Given the description of an element on the screen output the (x, y) to click on. 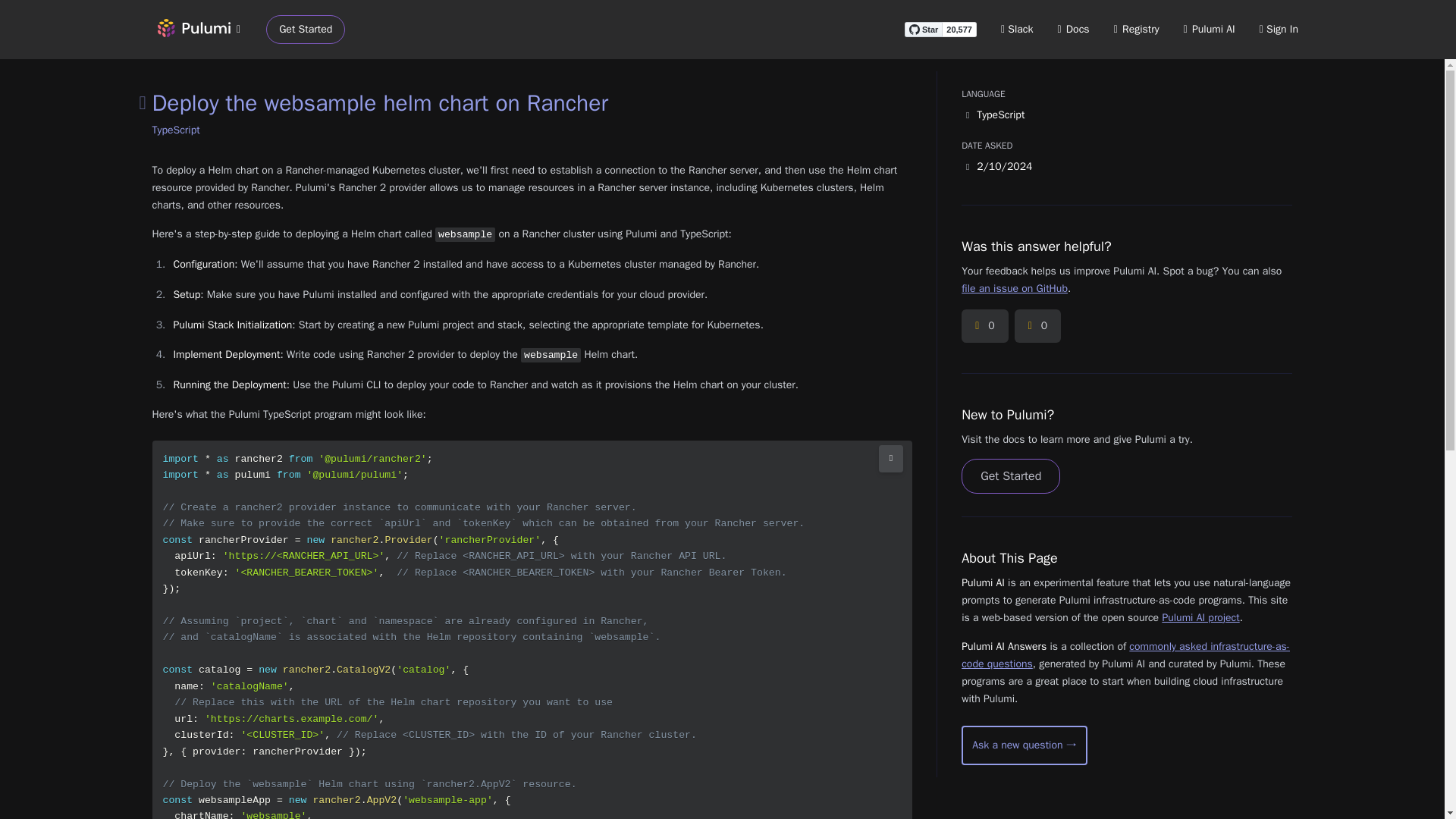
Upvote this answer (984, 326)
Pulumi AI (1208, 29)
Sign In (1278, 29)
0 (984, 326)
20,577 (959, 29)
Registry (1135, 29)
Slack (1017, 29)
Downvote this answer (1037, 326)
Docs (1073, 29)
file an issue on GitHub (1013, 287)
Get Started (1009, 475)
Get Started (305, 29)
0 (1037, 326)
Start a new conversation with Pulumi AI (1023, 744)
 Star (923, 29)
